Given the description of an element on the screen output the (x, y) to click on. 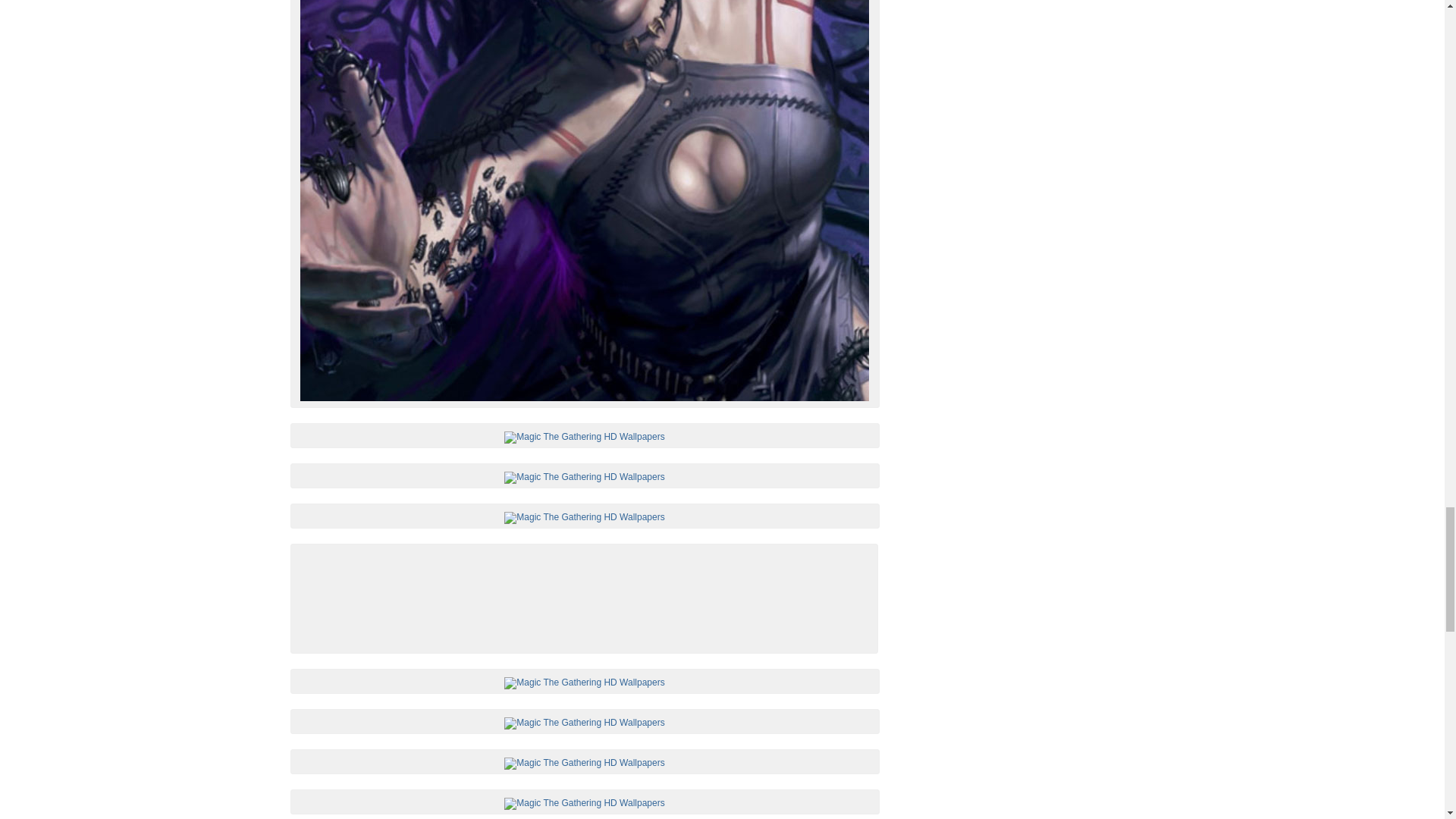
Magic The Gathering HD Wallpapers (583, 437)
Magic The Gathering HD Wallpapers (583, 803)
Magic The Gathering HD Wallpapers (583, 763)
Magic The Gathering HD Wallpapers (583, 477)
Magic The Gathering HD Wallpapers (583, 517)
Magic The Gathering HD Wallpapers (583, 683)
Magic The Gathering HD Wallpapers (583, 723)
